Given the description of an element on the screen output the (x, y) to click on. 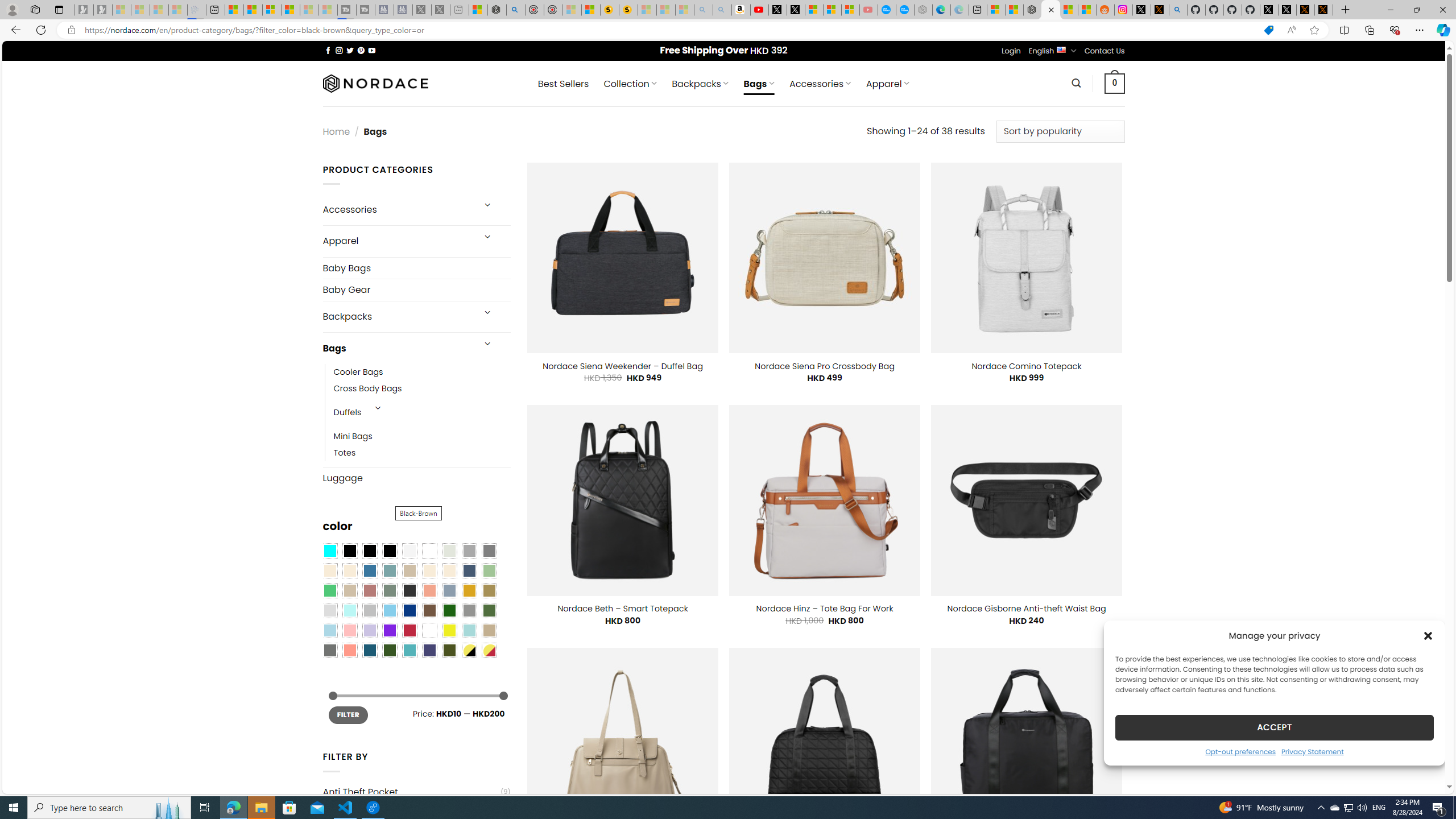
Totes (422, 452)
Dark Gray (468, 550)
Brown (429, 610)
Cream (449, 570)
Contact Us (1104, 50)
Emerald Green (329, 590)
New tab - Sleeping (459, 9)
